Given the description of an element on the screen output the (x, y) to click on. 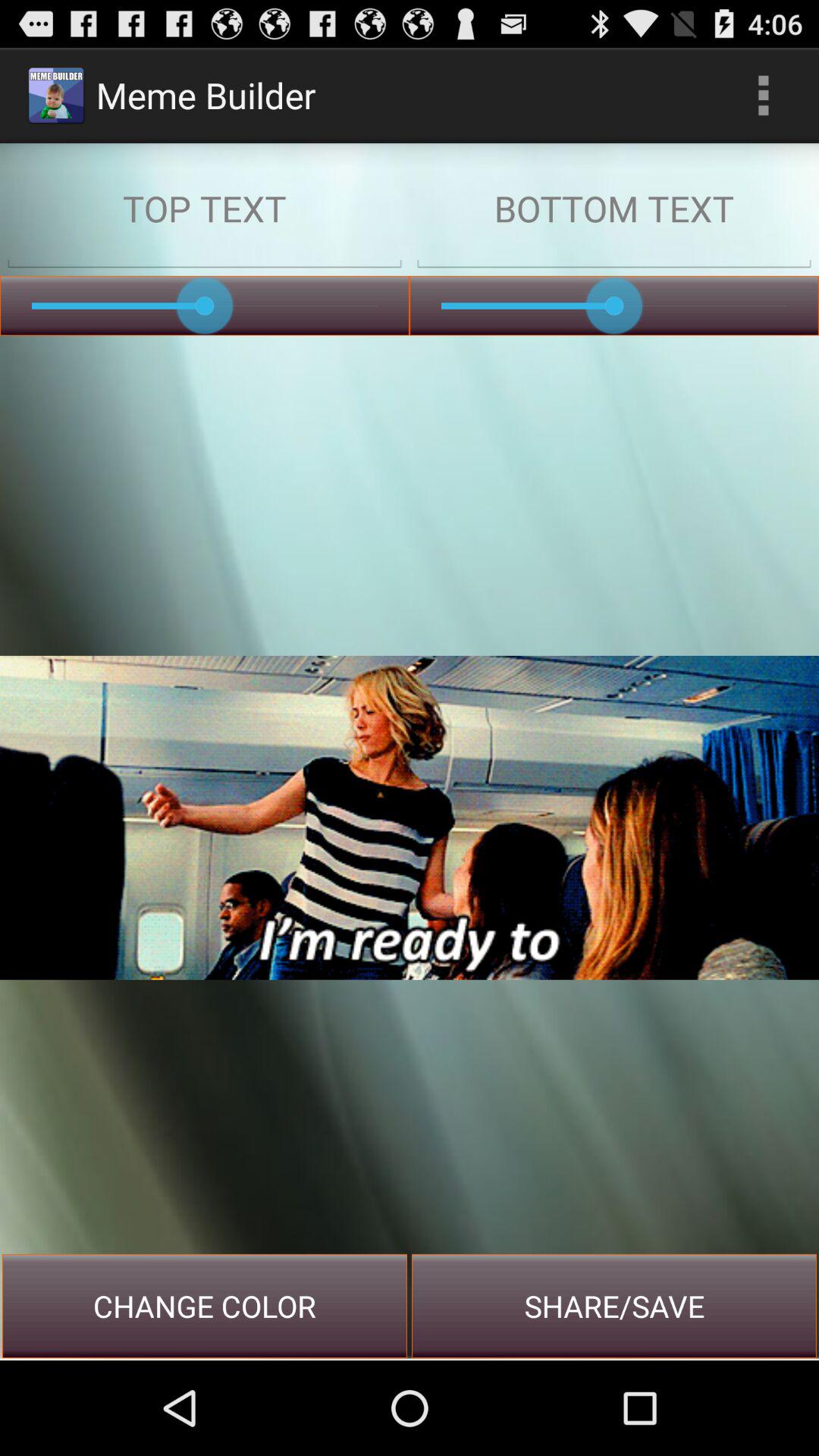
select the share/save at the bottom right corner (613, 1306)
